Given the description of an element on the screen output the (x, y) to click on. 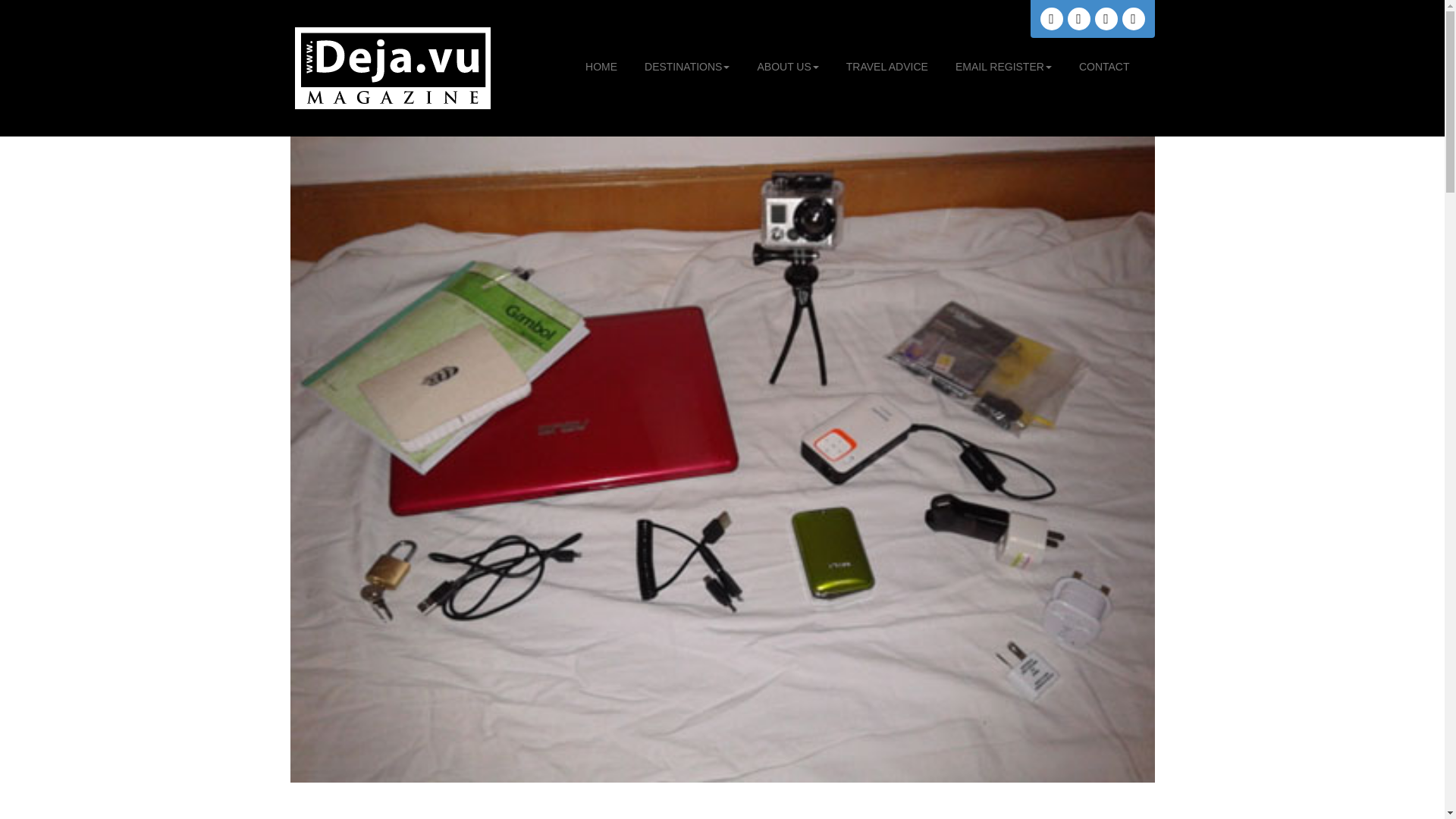
ABOUT US (787, 66)
HOME (600, 66)
EMAIL REGISTER (1002, 66)
CONTACT (1104, 66)
DESTINATIONS (687, 66)
TRAVEL ADVICE (886, 66)
